Given the description of an element on the screen output the (x, y) to click on. 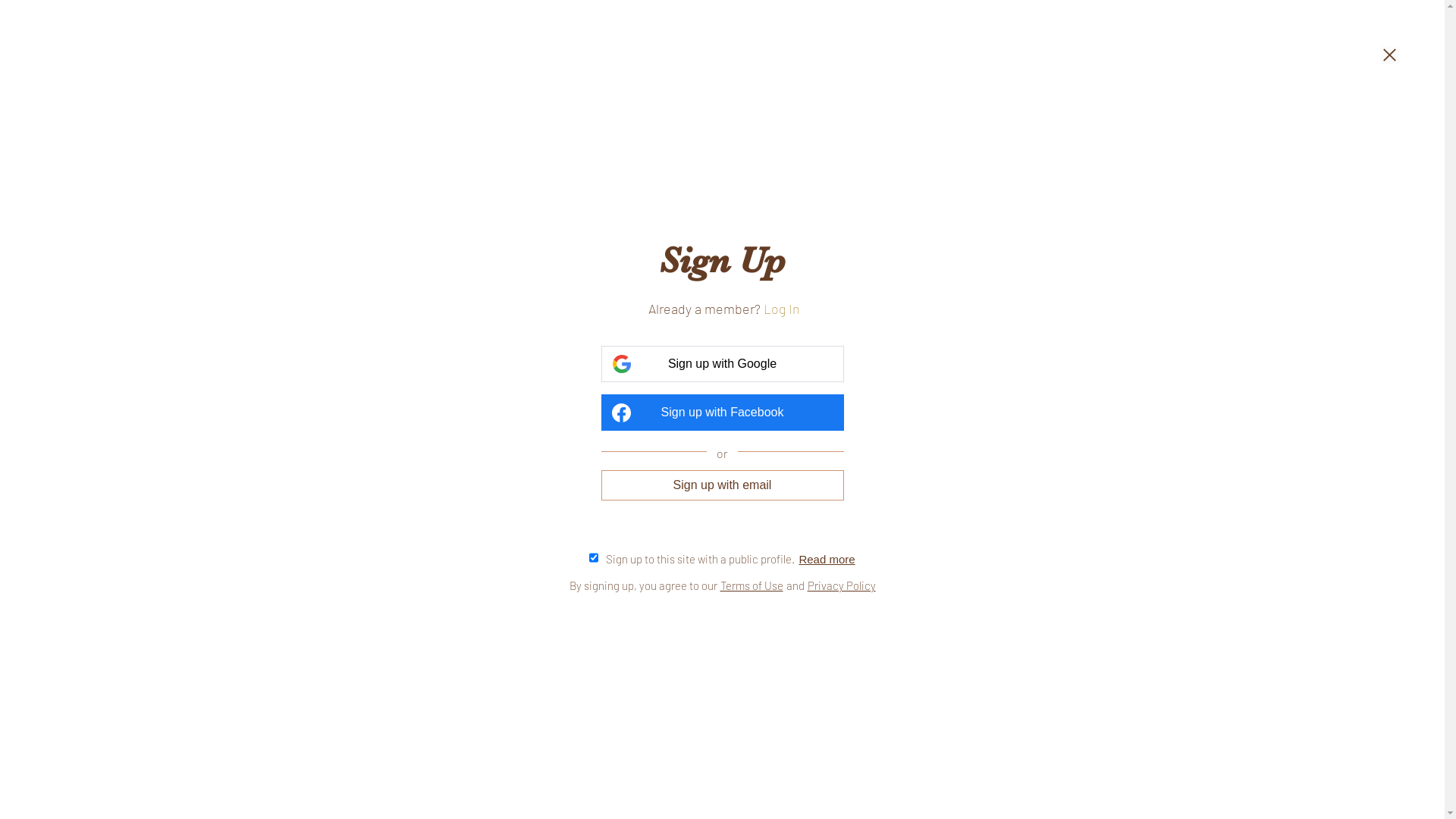
Log In Element type: text (780, 309)
Sign up with Google Element type: text (721, 363)
Read more Element type: text (826, 558)
Sign up with email Element type: text (721, 485)
Privacy Policy Element type: text (840, 585)
Sign up with Facebook Element type: text (721, 412)
Terms of Use Element type: text (751, 585)
